Given the description of an element on the screen output the (x, y) to click on. 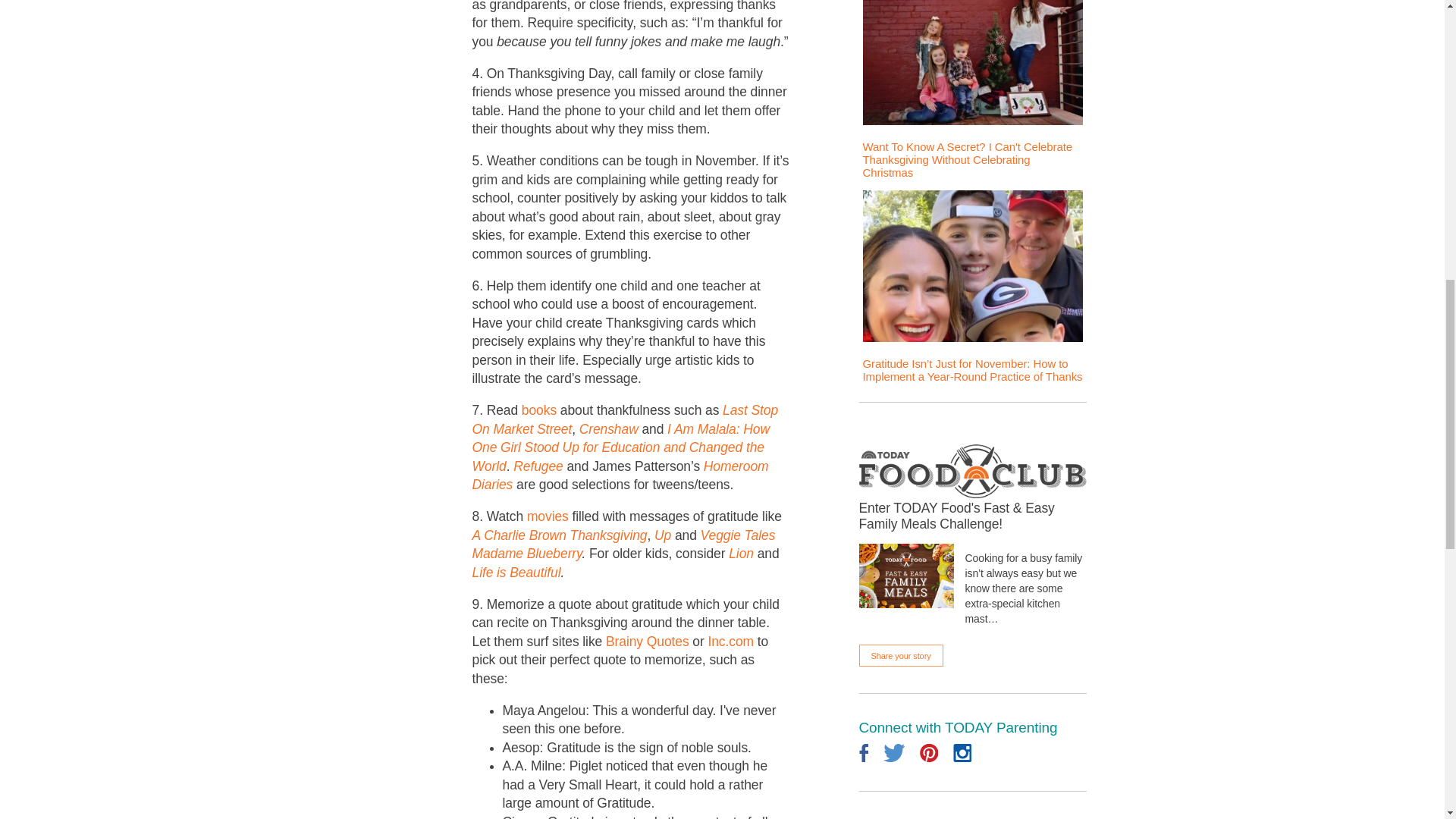
Homeroom Diaries (619, 474)
movies (548, 516)
Refugee (537, 465)
Veggie Tales Madame Blueberry (622, 544)
Inc.com (730, 641)
Last Stop On Market Street (624, 419)
A Charlie Brown Thanksgiving (558, 534)
books (538, 409)
Up (662, 534)
Crenshaw (609, 428)
Life is Beautiful (515, 571)
Lion (741, 553)
Brainy Quotes (646, 641)
